Given the description of an element on the screen output the (x, y) to click on. 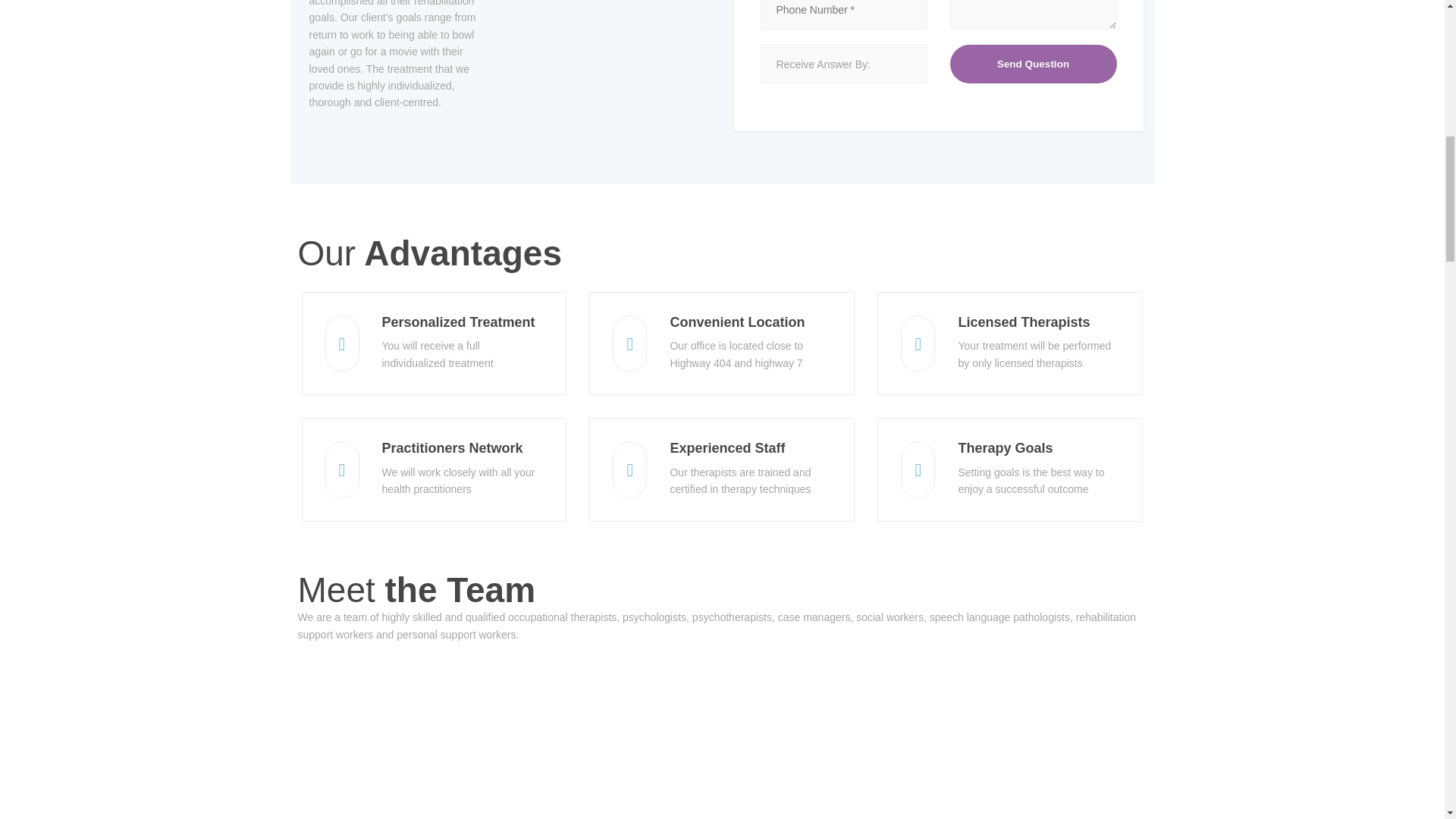
Send Question (1032, 64)
Send Question (1032, 64)
